Given the description of an element on the screen output the (x, y) to click on. 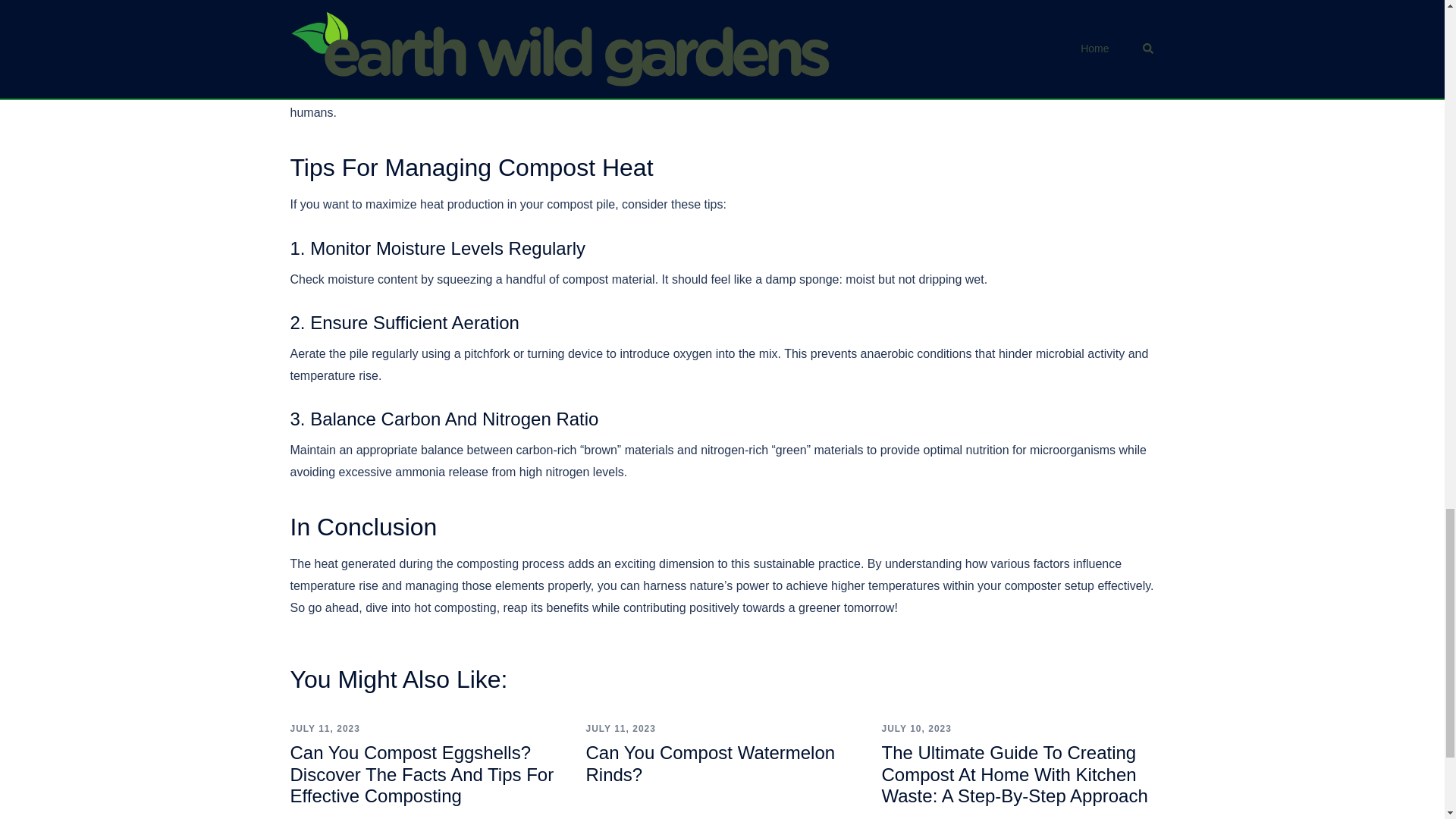
JULY 10, 2023 (915, 728)
JULY 11, 2023 (620, 728)
JULY 11, 2023 (324, 728)
Can You Compost Watermelon Rinds? (709, 763)
